Given the description of an element on the screen output the (x, y) to click on. 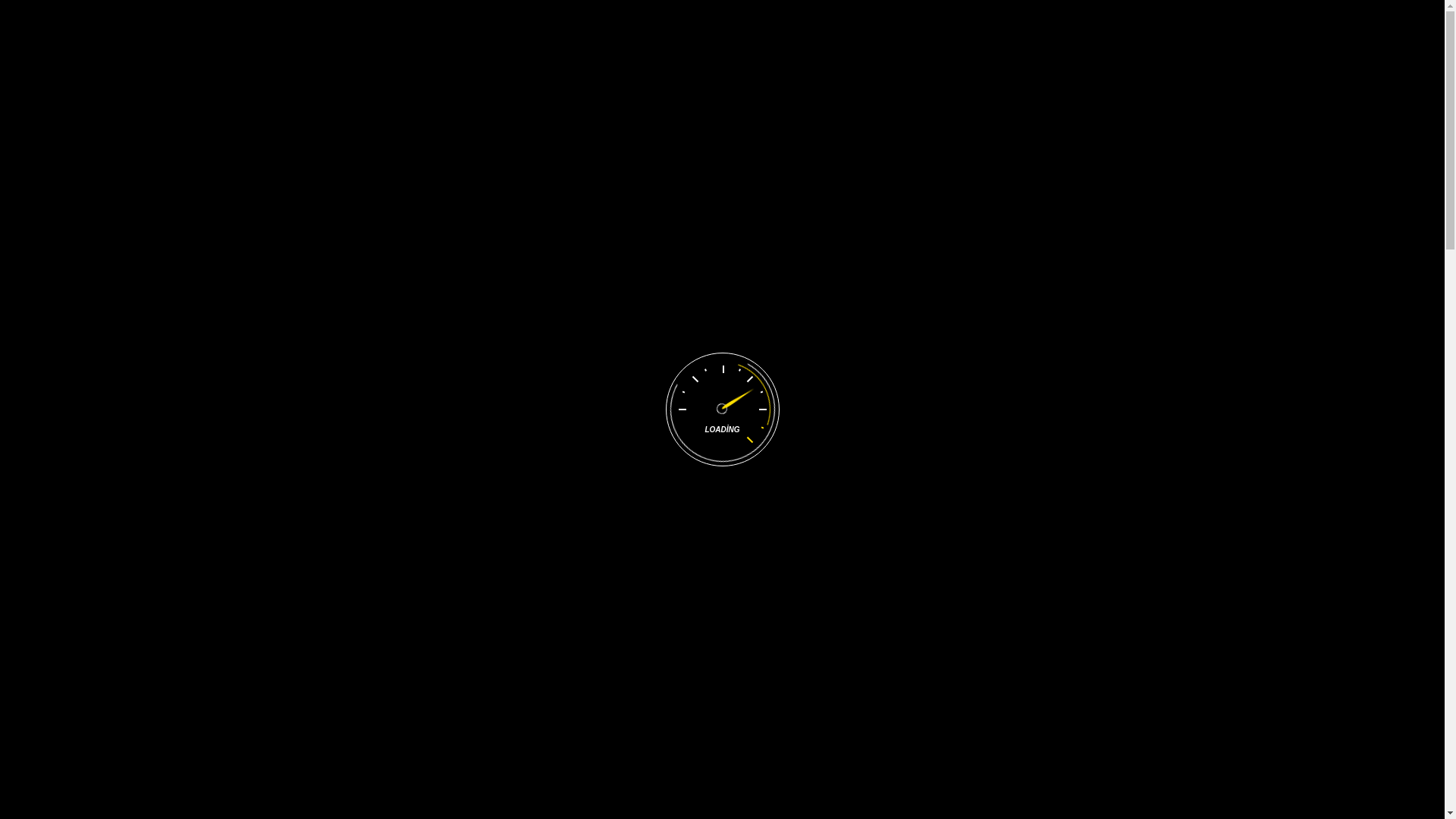
Galeri Element type: text (577, 119)
Anasayfa Element type: text (336, 120)
Hizmetler Element type: text (504, 119)
DEVAMI.. Element type: text (1090, 675)
Kurumsal Element type: text (420, 119)
Haberler Element type: text (647, 119)
